Given the description of an element on the screen output the (x, y) to click on. 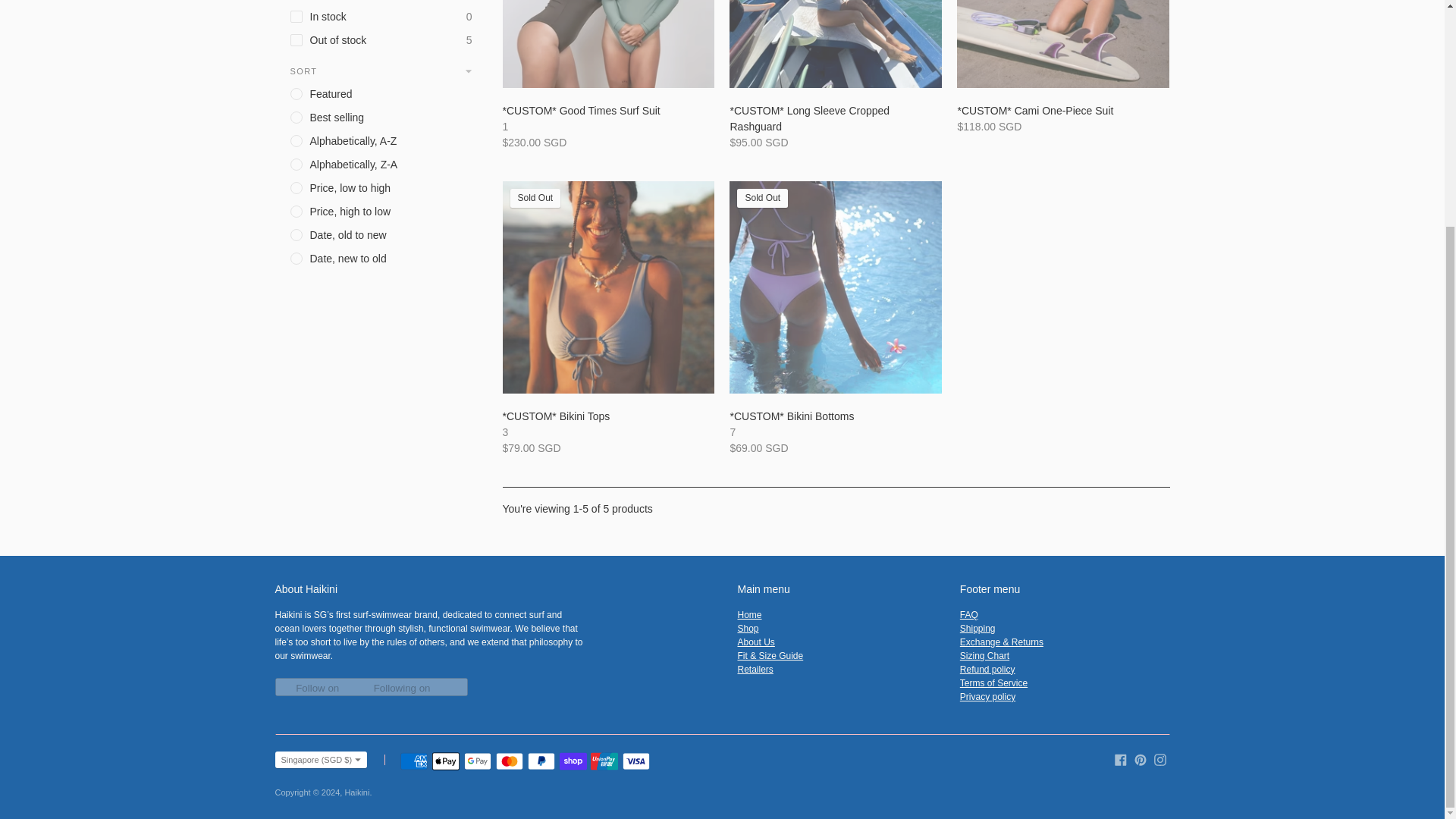
American Express (414, 761)
PayPal (540, 761)
Haikini on Instagram (1160, 758)
Haikini on Pinterest (1140, 758)
Mastercard (509, 761)
Haikini on Facebook (1120, 758)
Google Pay (478, 761)
Union Pay (604, 761)
